Given the description of an element on the screen output the (x, y) to click on. 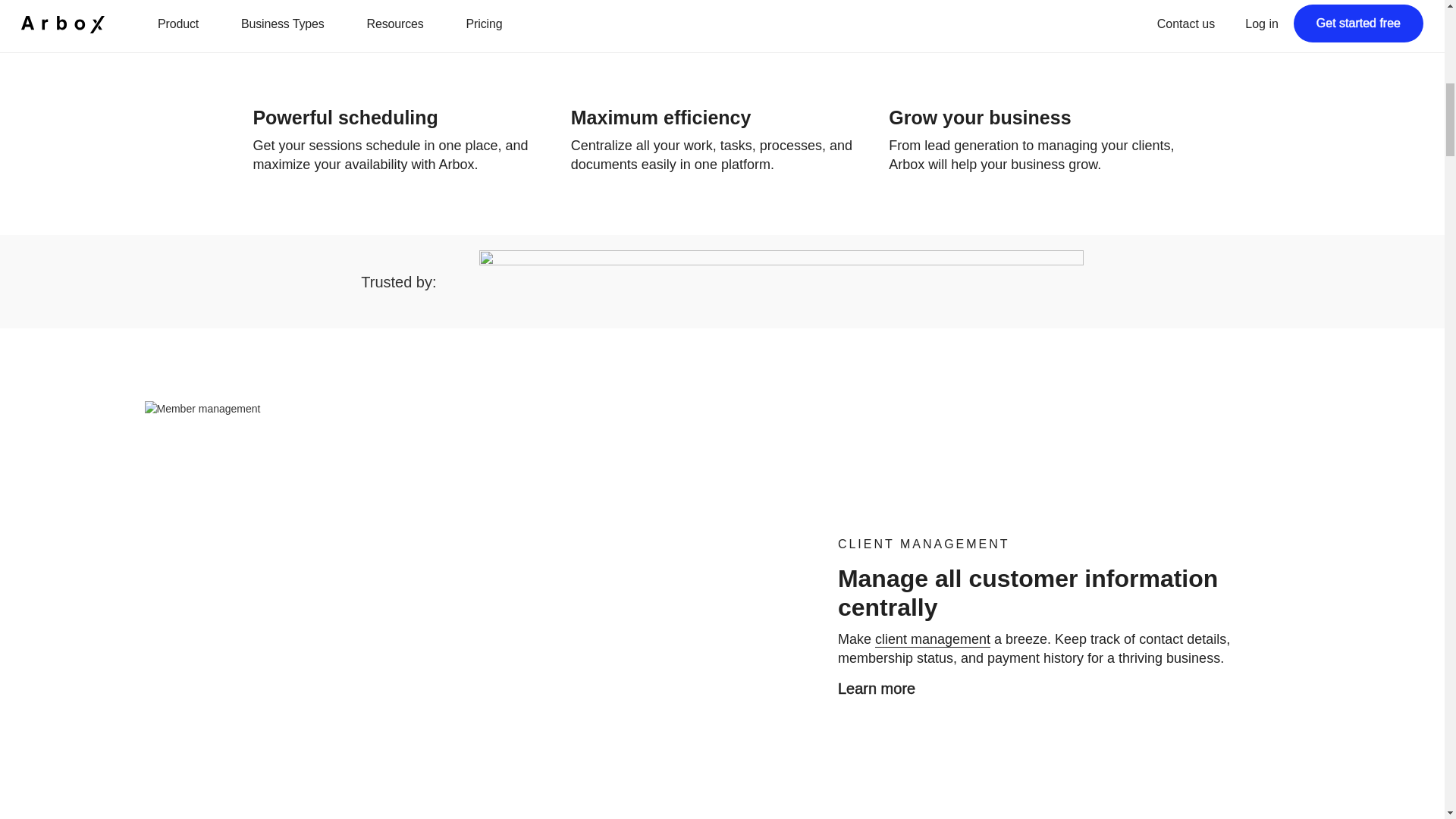
Member management (876, 688)
Learn more (876, 688)
Client management (932, 639)
client management (932, 639)
